Given the description of an element on the screen output the (x, y) to click on. 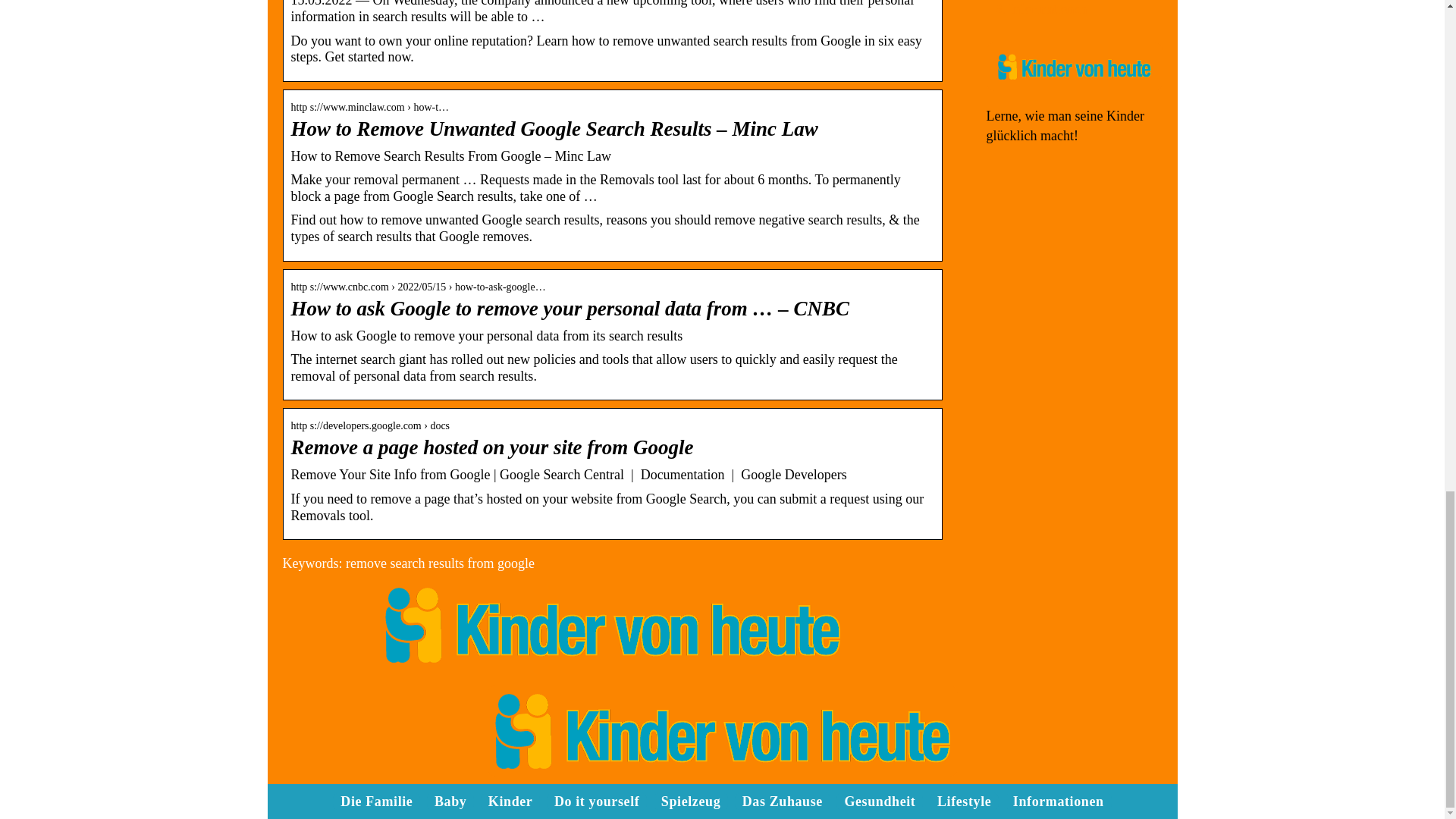
Die Familie (376, 801)
Das Zuhause (782, 801)
Do it yourself (596, 801)
Informationen (1047, 8)
Spielzeug (690, 801)
Kinder (509, 801)
Gesundheit (879, 801)
Baby (449, 801)
